Given the description of an element on the screen output the (x, y) to click on. 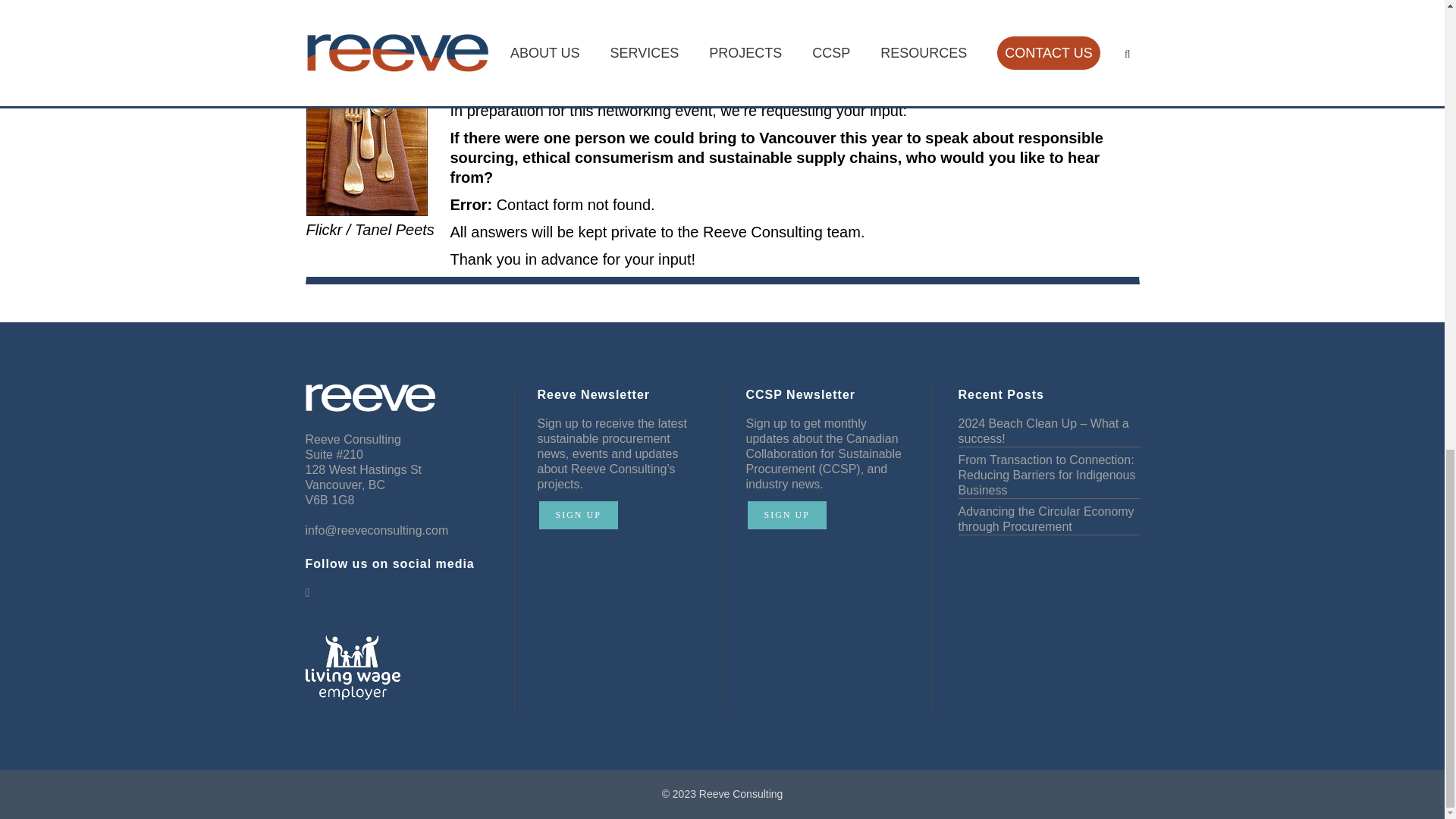
Sign Up for Reeve Newsletter (577, 514)
Sign Up for CCSP Newsletter (786, 514)
